Given the description of an element on the screen output the (x, y) to click on. 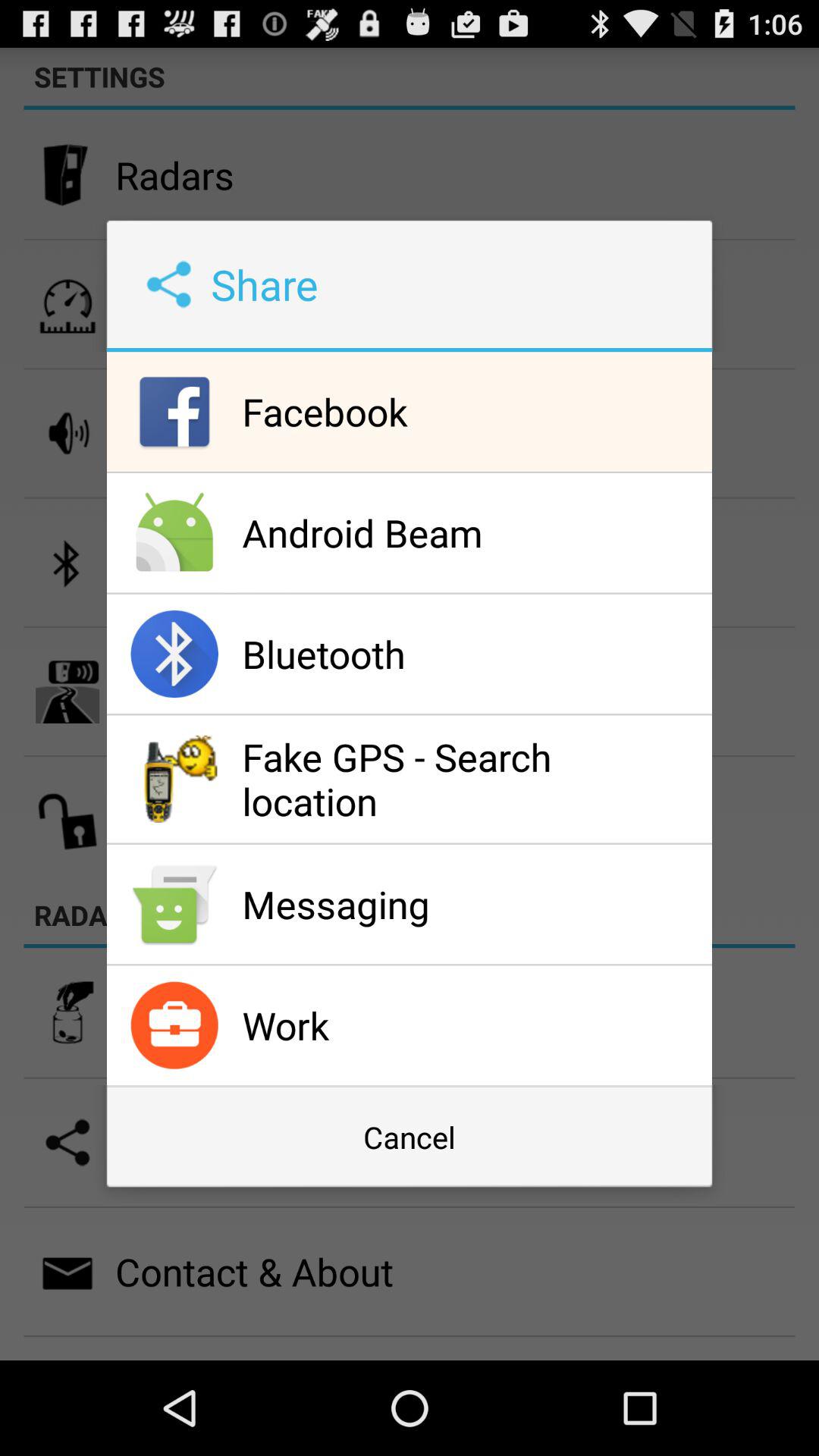
swipe until the cancel item (409, 1136)
